Given the description of an element on the screen output the (x, y) to click on. 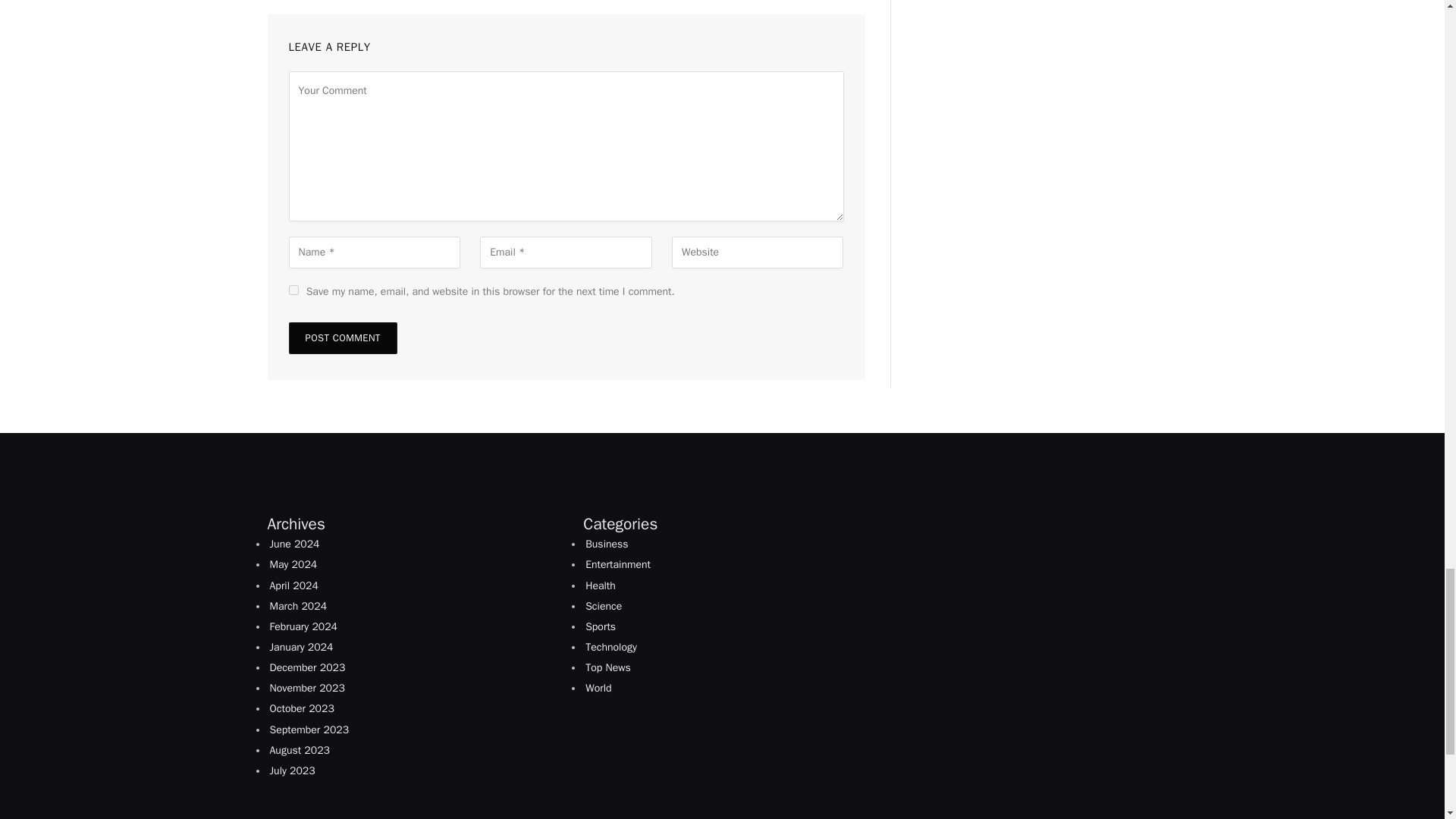
yes (293, 289)
Post Comment (342, 337)
